Given the description of an element on the screen output the (x, y) to click on. 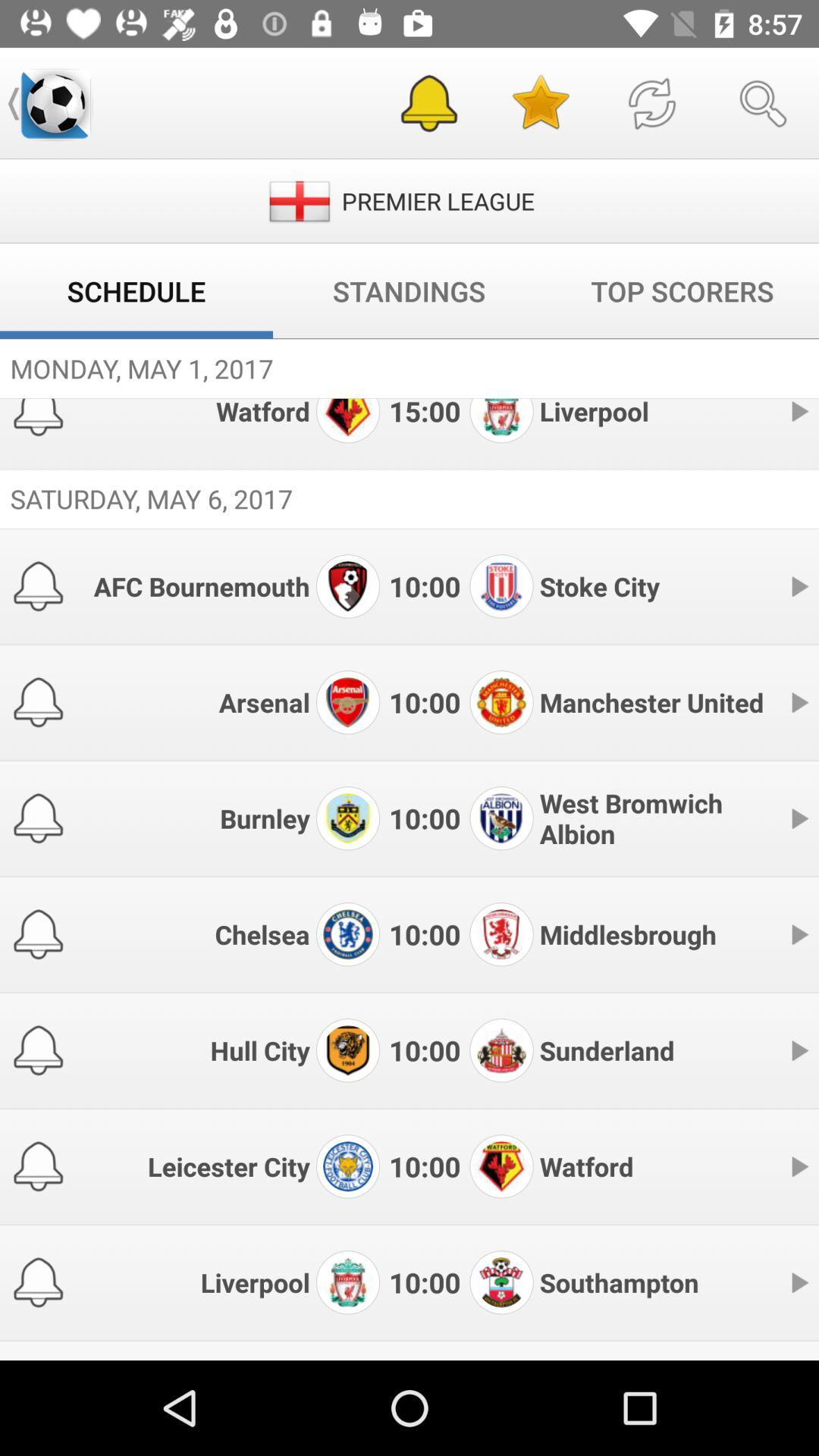
select play button which is below top scorers on the page (798, 411)
click on play button which is on the right side of sunderland (798, 1051)
select the bell icon which is left side of the leicester city (38, 1165)
go to icon beside 1000 (348, 585)
